Given the description of an element on the screen output the (x, y) to click on. 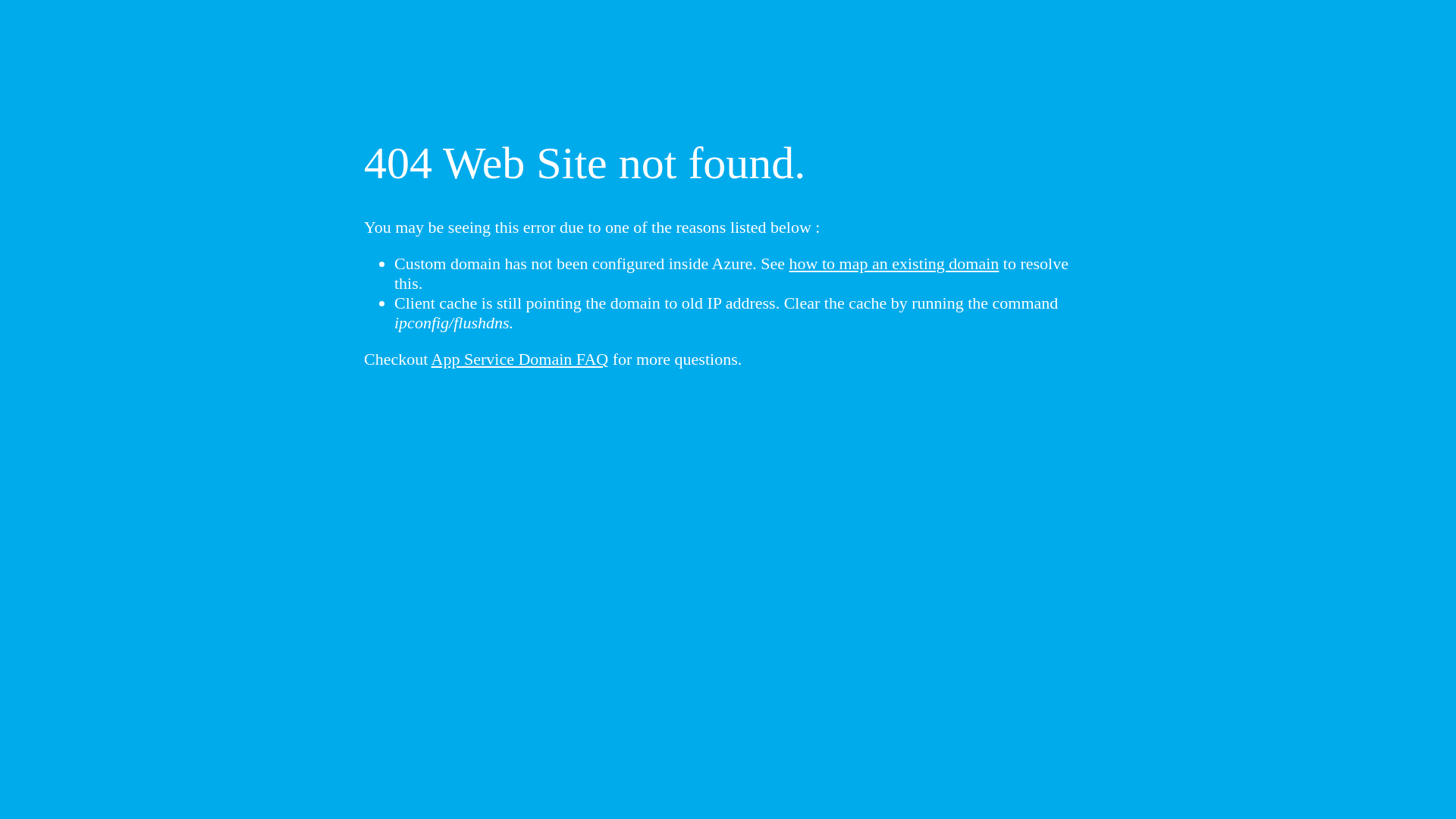
how to map an existing domain Element type: text (894, 263)
App Service Domain FAQ Element type: text (519, 358)
